Given the description of an element on the screen output the (x, y) to click on. 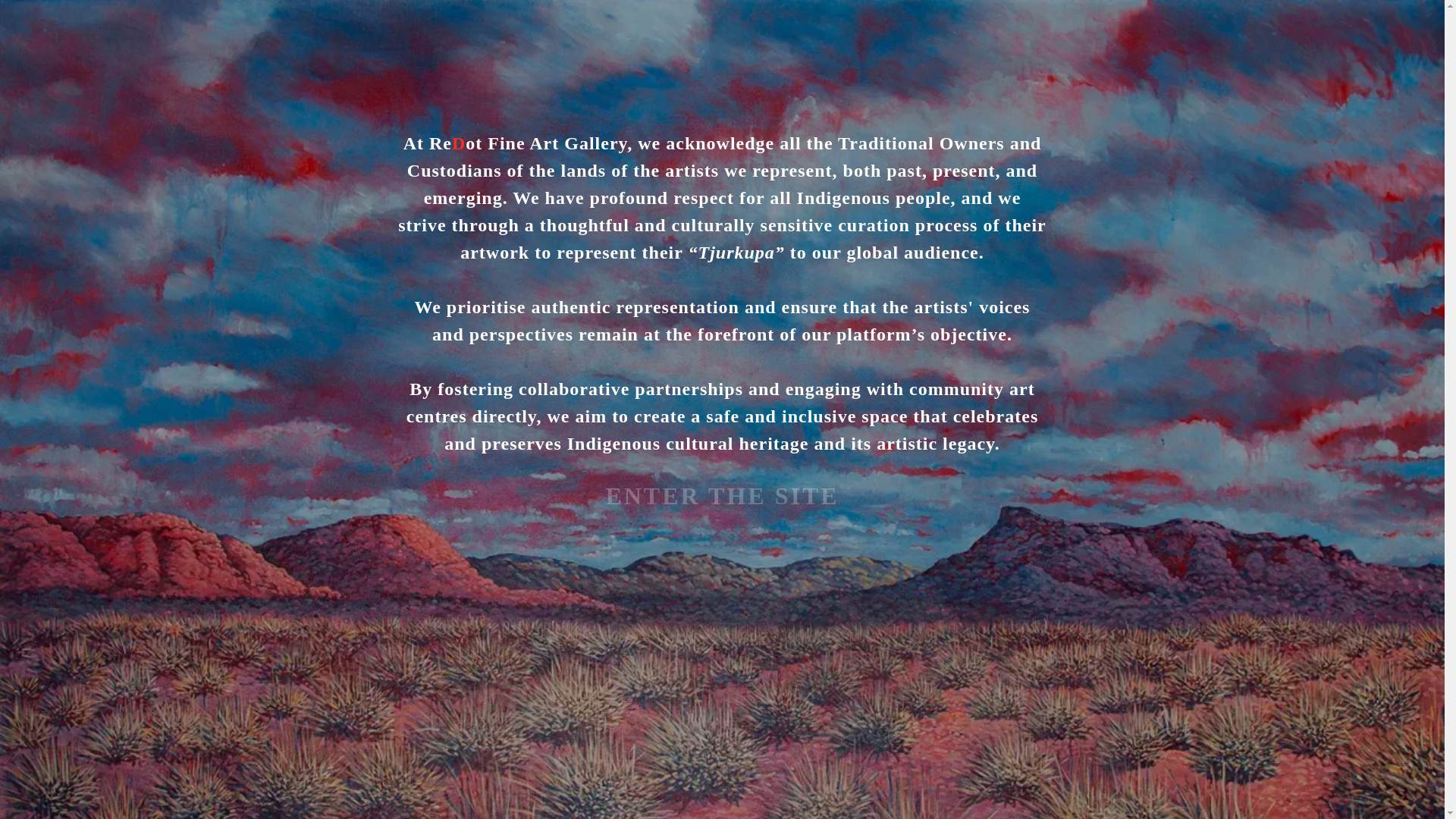
ENQUIRE (610, 707)
ARTWORKS (64, 262)
SUMMARY (194, 262)
list (840, 235)
ENQUIRE (944, 707)
ENQUIRE (277, 707)
ENTER THE SITE (721, 492)
Back to Exhibitions (925, 121)
grid (840, 235)
